Given the description of an element on the screen output the (x, y) to click on. 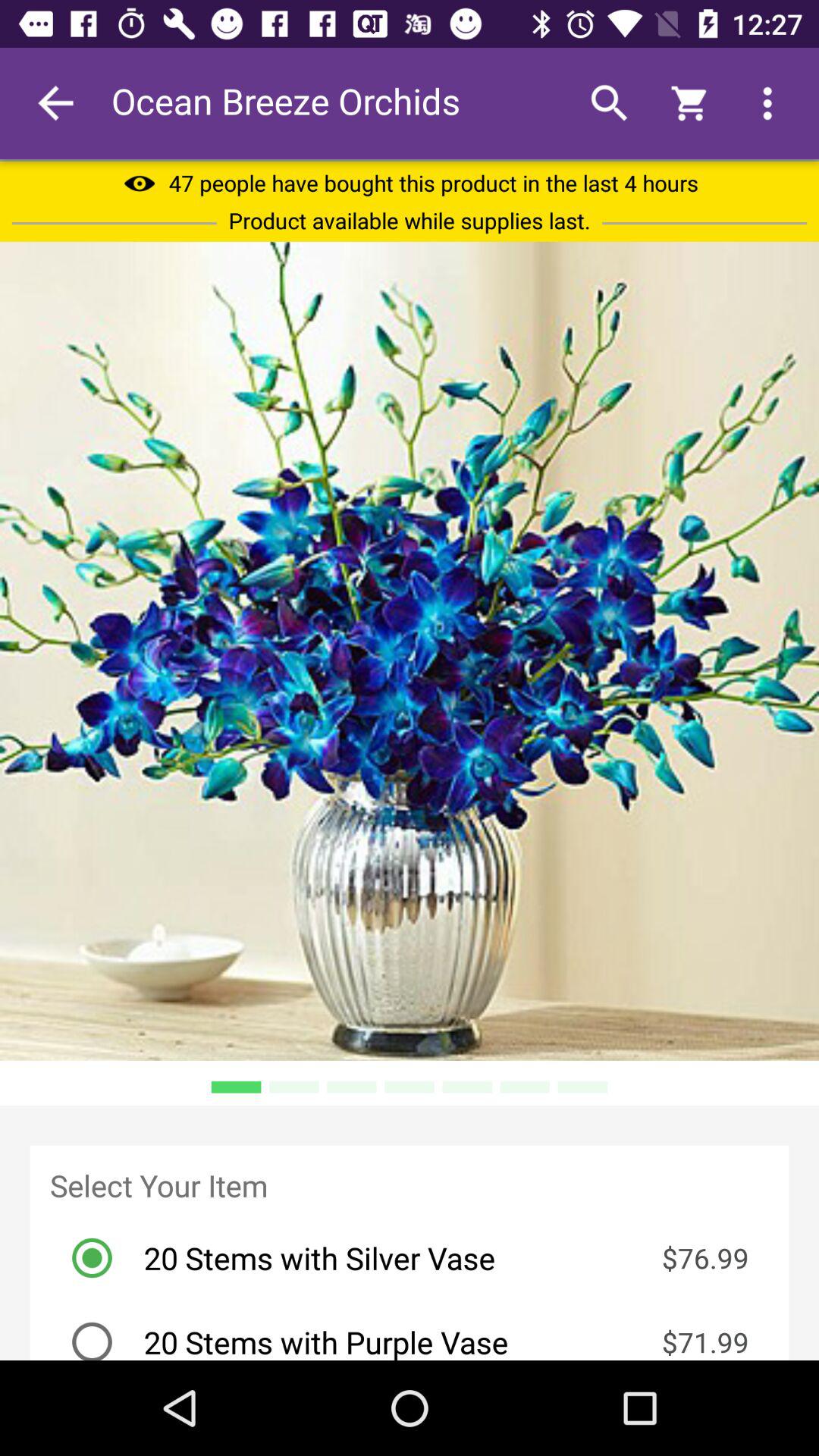
open icon at the center (409, 650)
